Given the description of an element on the screen output the (x, y) to click on. 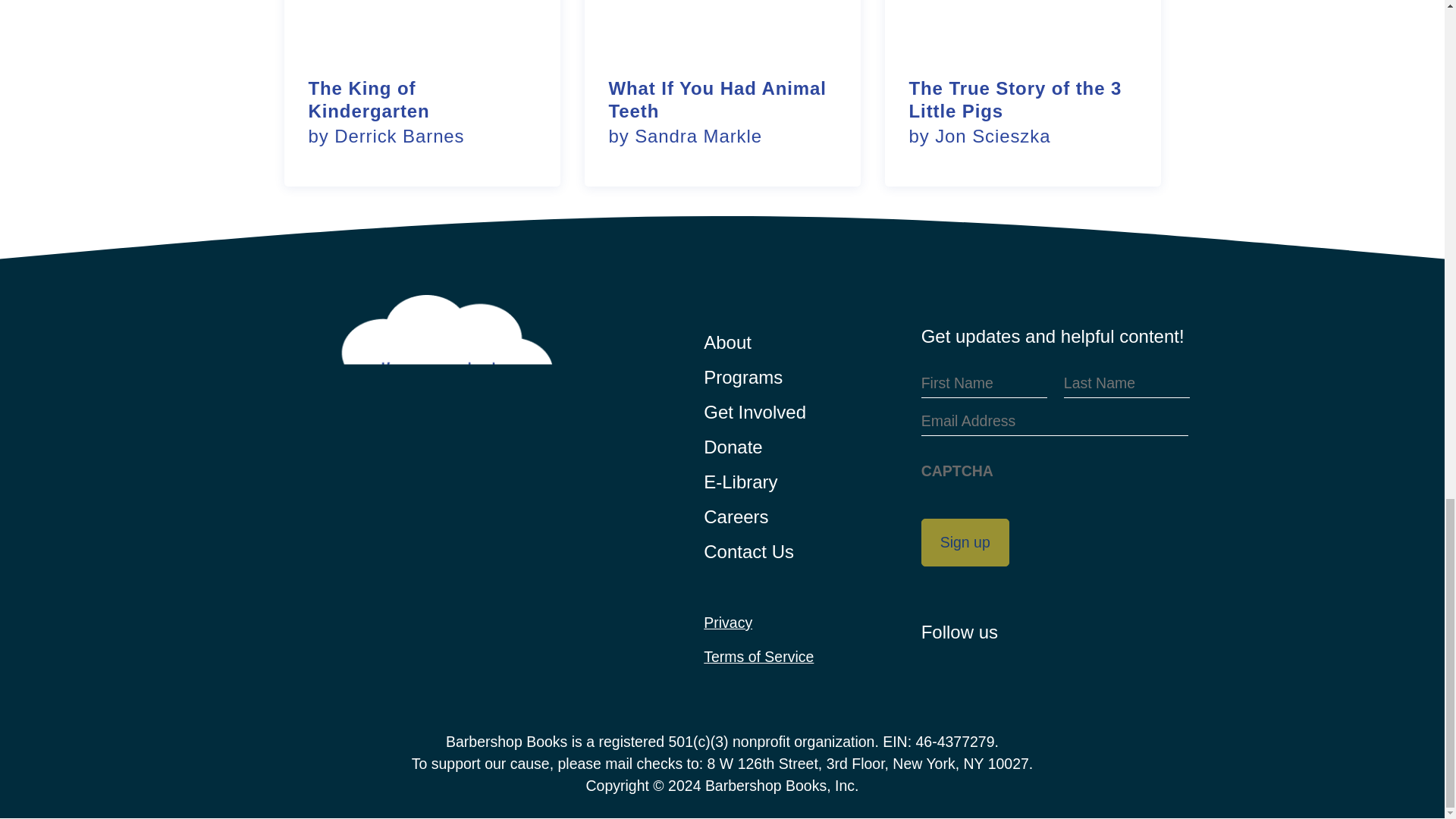
About (721, 93)
Sign up (421, 93)
Programs (727, 342)
